Given the description of an element on the screen output the (x, y) to click on. 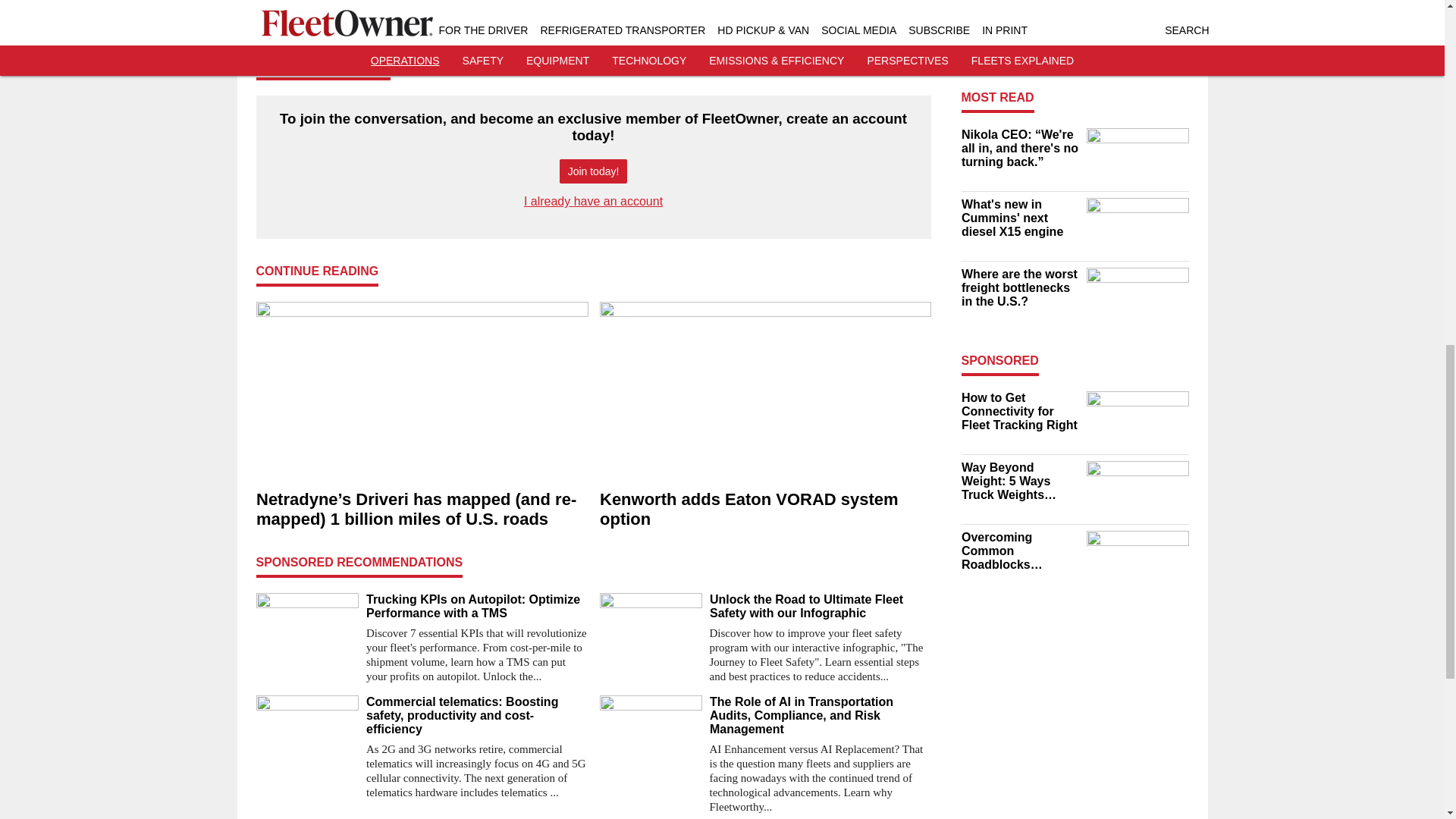
I already have an account (593, 201)
Kenworth adds Eaton VORAD system option (764, 509)
Join today! (593, 171)
Trucking KPIs on Autopilot: Optimize Performance with a TMS (476, 605)
